Given the description of an element on the screen output the (x, y) to click on. 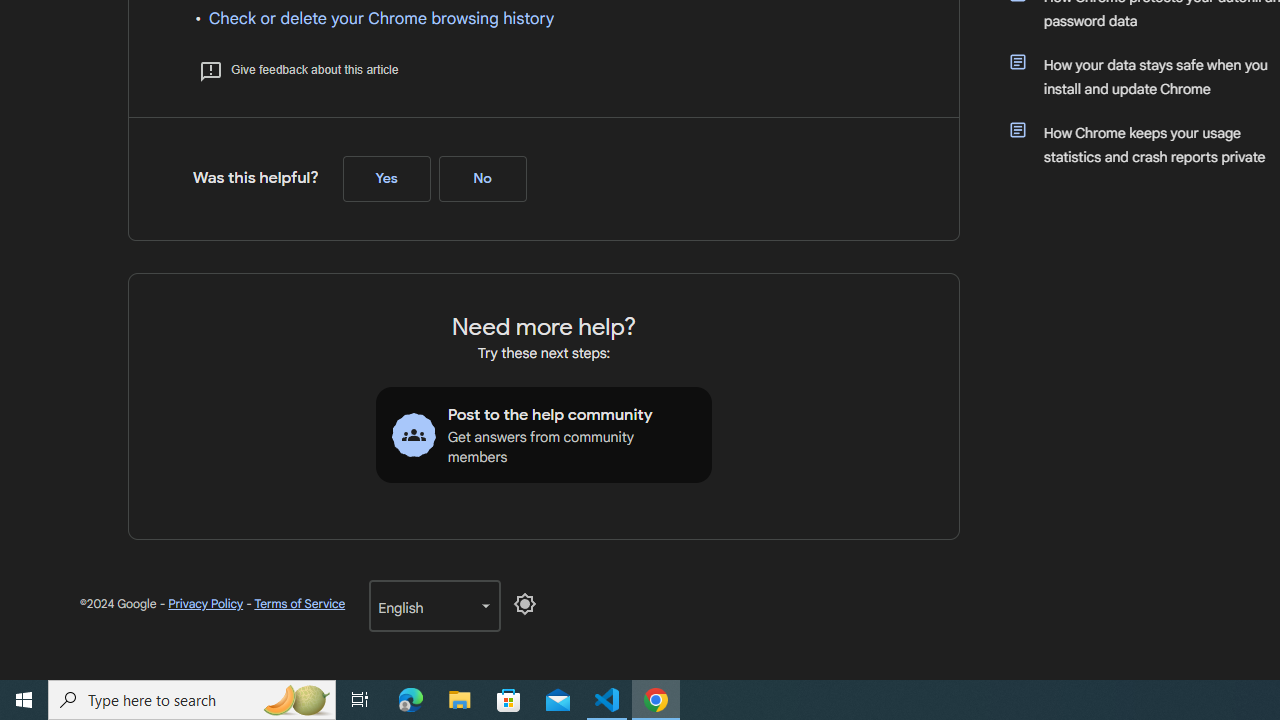
Yes (Was this helpful?) (386, 179)
Give feedback about this article (298, 69)
Check or delete your Chrome browsing history (381, 18)
No (Was this helpful?) (482, 179)
Disable Dark Mode (525, 603)
